Given the description of an element on the screen output the (x, y) to click on. 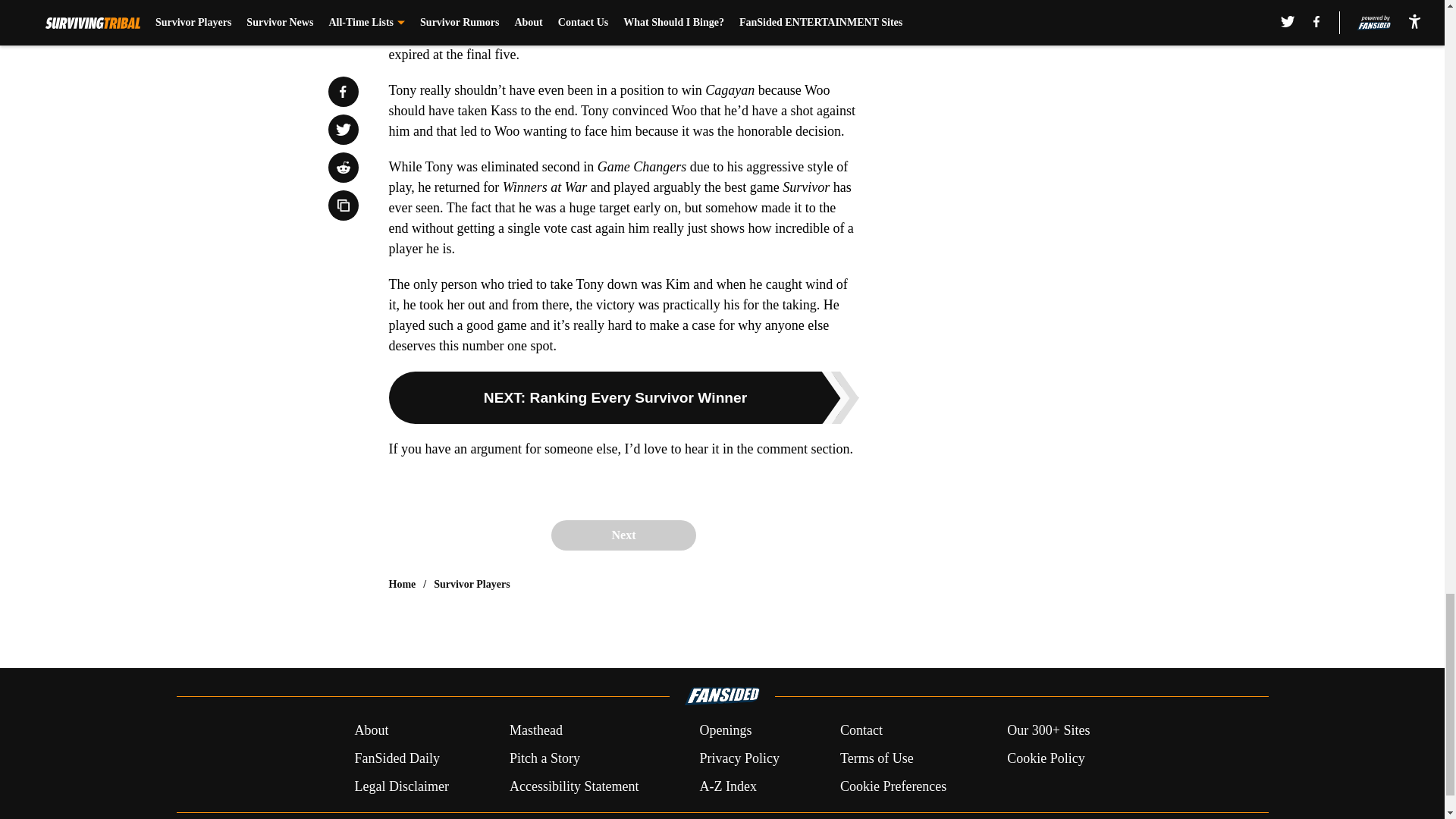
Contact (861, 730)
Pitch a Story (544, 758)
Terms of Use (877, 758)
Next (622, 535)
NEXT: Ranking Every Survivor Winner (623, 397)
About (370, 730)
FanSided Daily (396, 758)
Privacy Policy (738, 758)
Home (401, 584)
Masthead (535, 730)
Openings (724, 730)
Cookie Policy (1045, 758)
Survivor Players (471, 584)
